Given the description of an element on the screen output the (x, y) to click on. 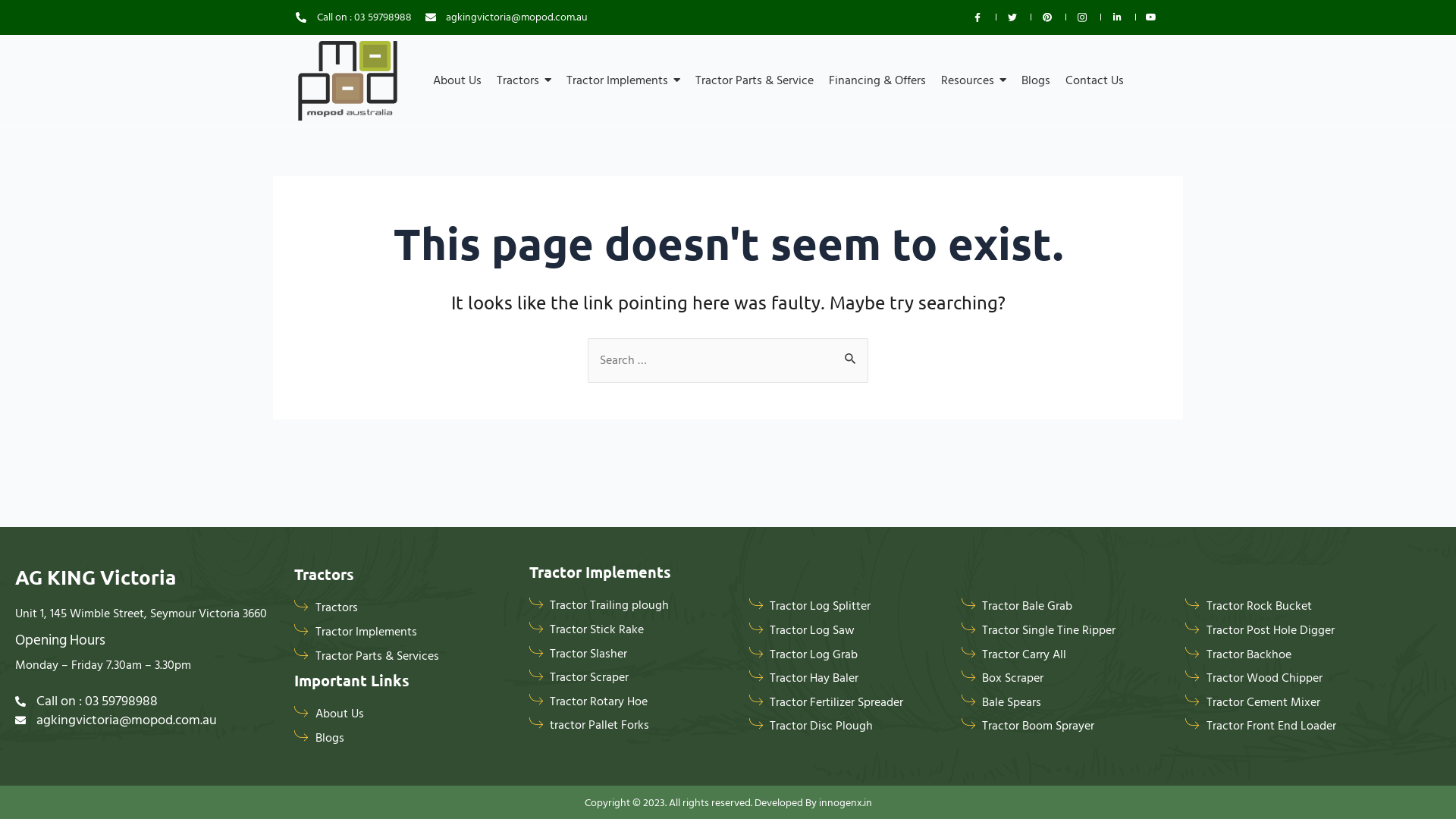
Tractor Single Tine Ripper Element type: text (1065, 630)
Tractor Front End Loader Element type: text (1290, 726)
Search Element type: text (851, 357)
Tractor Carry All Element type: text (1065, 655)
Contact Us Element type: text (1094, 79)
Tractor Disc Plough Element type: text (847, 726)
Tractor Wood Chipper Element type: text (1290, 678)
Tractor Implements Element type: text (428, 632)
Tractor Parts & Service Element type: text (754, 79)
Tractor Parts & Services Element type: text (428, 656)
Tractor Backhoe Element type: text (1290, 655)
Tractor Post Hole Digger Element type: text (1290, 630)
Resources Element type: text (973, 79)
About Us Element type: text (457, 79)
Tractor Fertilizer Spreader Element type: text (847, 702)
Tractor Scraper Element type: text (631, 677)
Blogs Element type: text (430, 738)
Box Scraper Element type: text (1065, 678)
Tractor Stick Rake Element type: text (631, 630)
Tractor Slasher Element type: text (631, 654)
Tractor Trailing plough Element type: text (631, 605)
Blogs Element type: text (1035, 79)
Tractor Bale Grab Element type: text (1065, 606)
Tractor Cement Mixer Element type: text (1290, 702)
Tractor Implements Element type: text (623, 79)
Tractor Rotary Hoe Element type: text (631, 702)
Financing & Offers Element type: text (876, 79)
Tractors Element type: text (523, 79)
Tractor Rock Bucket Element type: text (1290, 606)
Tractor Log Splitter Element type: text (847, 606)
Tractors Element type: text (428, 608)
tractor Pallet Forks Element type: text (631, 725)
Tractor Log Saw Element type: text (847, 630)
Tractor Boom Sprayer Element type: text (1065, 726)
About Us Element type: text (430, 714)
Bale Spears Element type: text (1065, 702)
Tractor Hay Baler Element type: text (847, 678)
innogenx.in Element type: text (845, 802)
Tractor Log Grab Element type: text (847, 655)
